Given the description of an element on the screen output the (x, y) to click on. 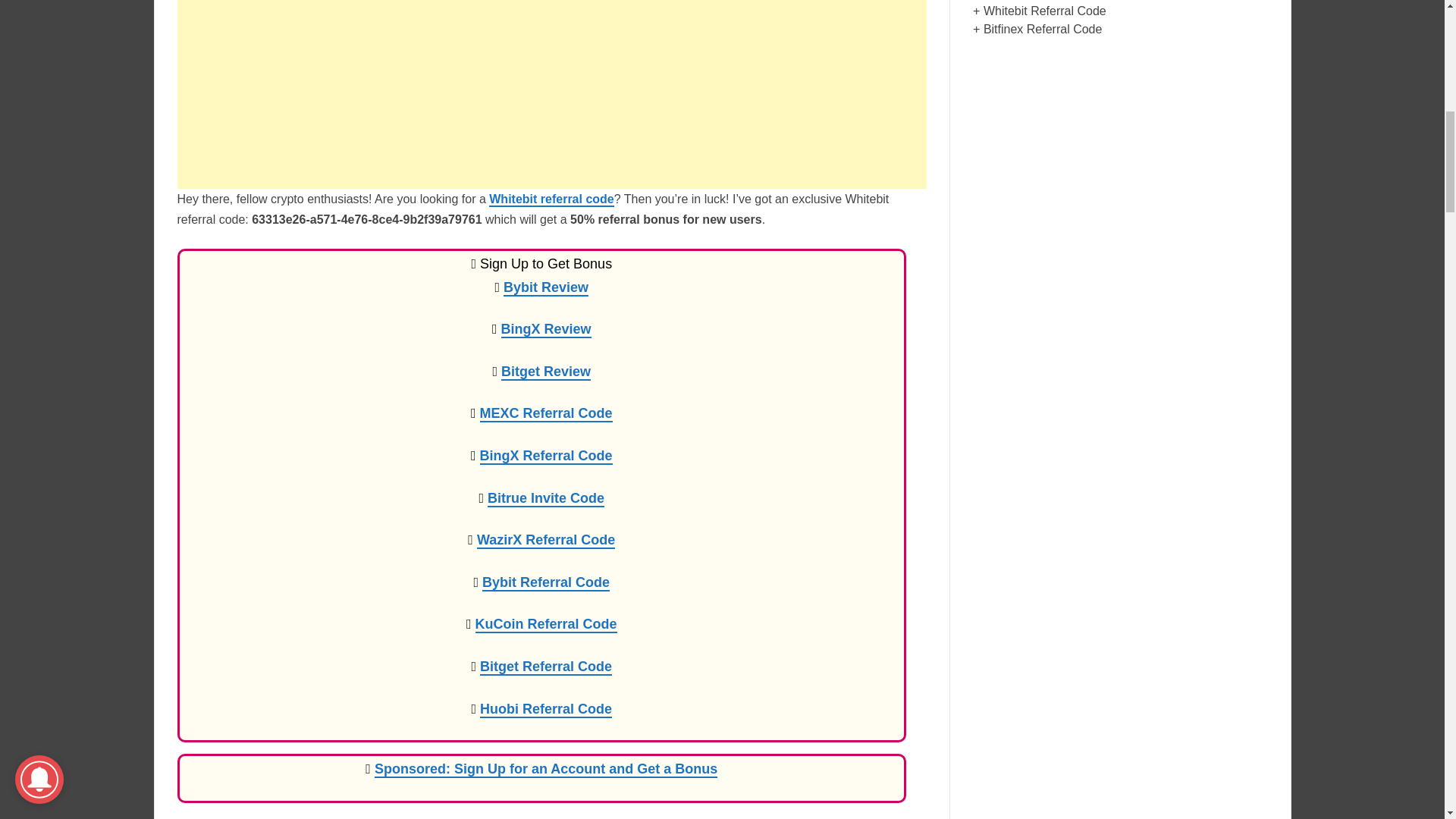
Advertisement (551, 94)
